Given the description of an element on the screen output the (x, y) to click on. 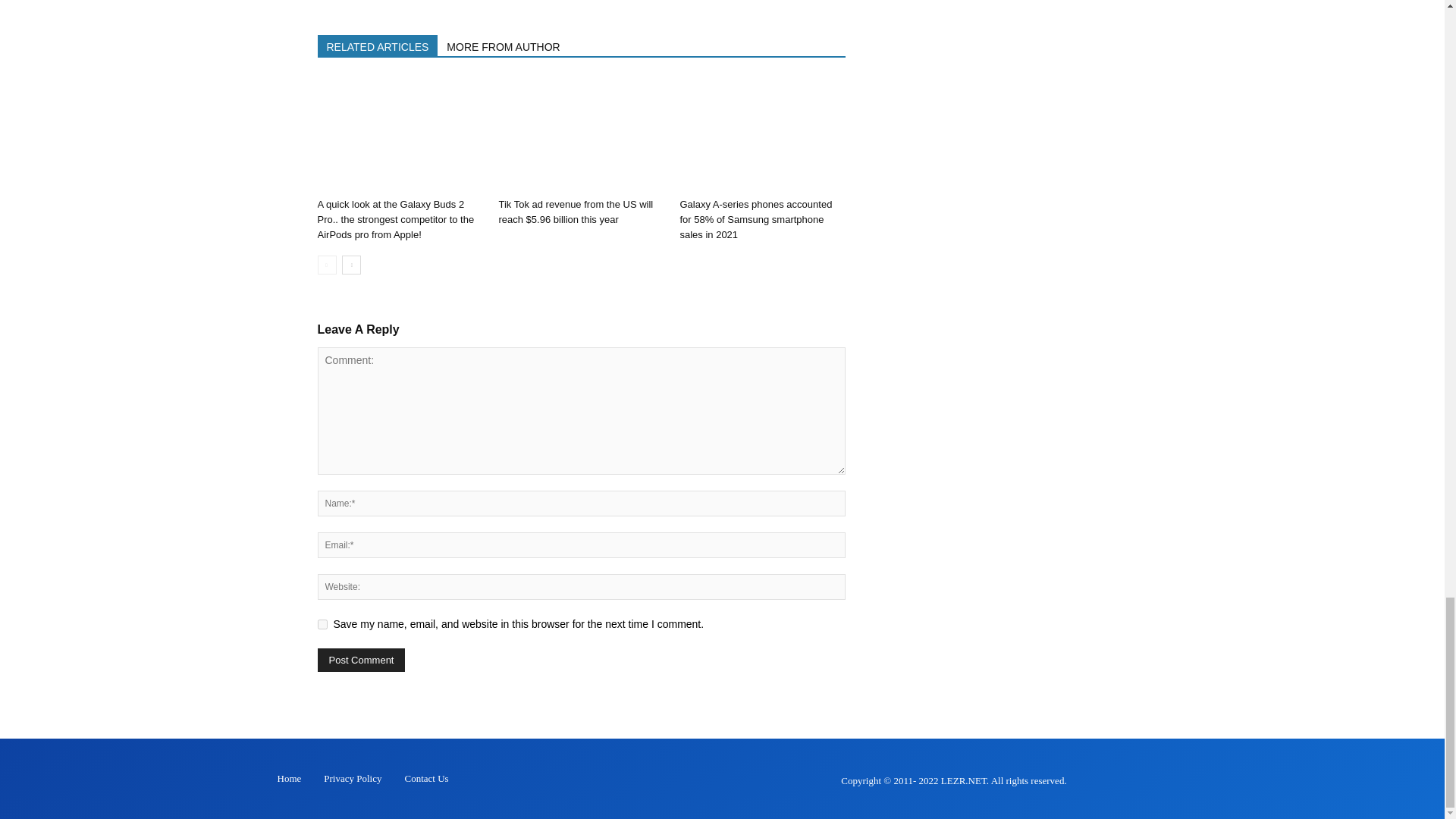
yes (321, 623)
Post Comment (360, 658)
